Given the description of an element on the screen output the (x, y) to click on. 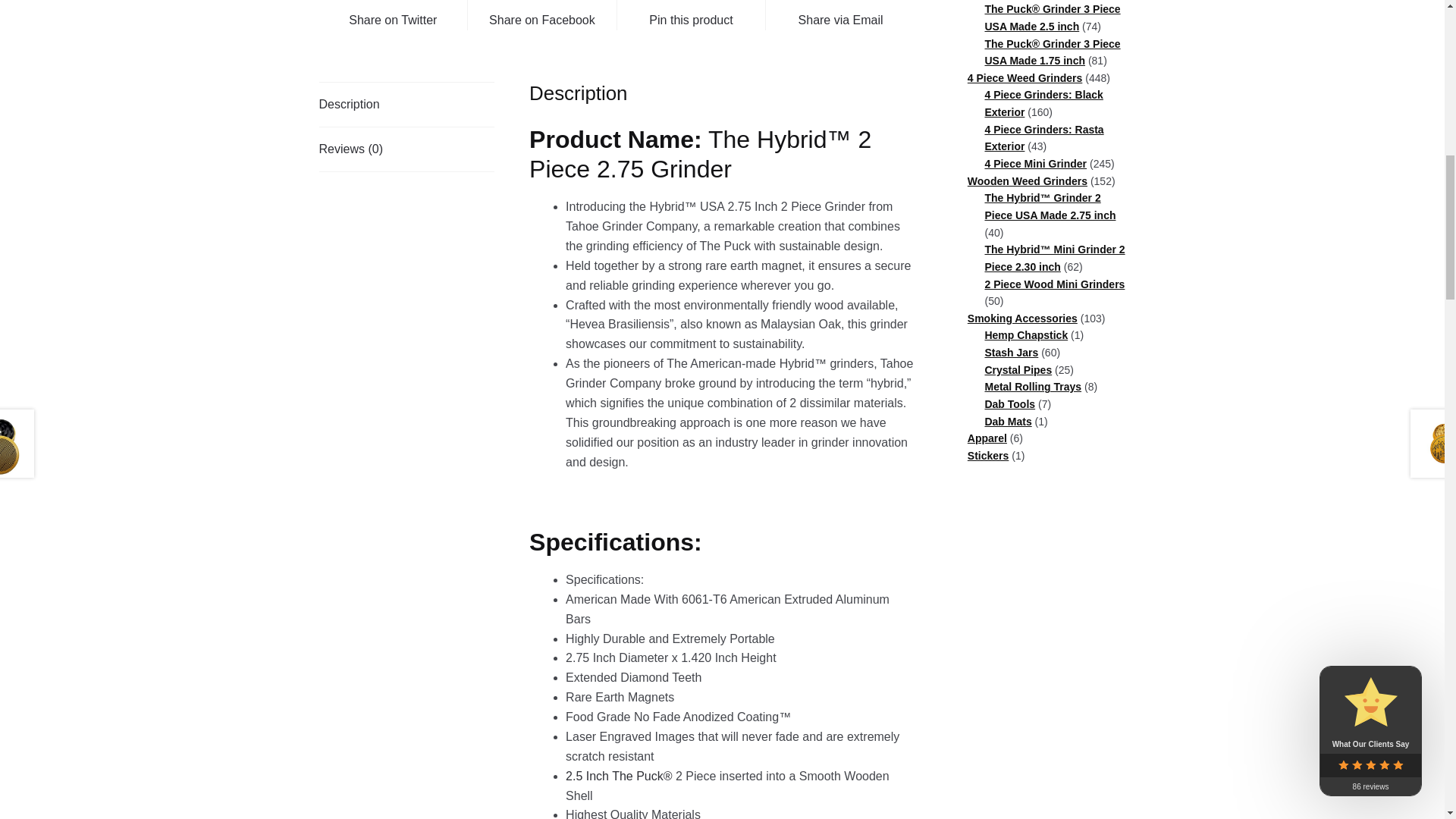
Share via Email (840, 15)
Pin this product (691, 15)
Description (406, 104)
Share on Twitter (392, 15)
Share on Facebook (541, 15)
